Given the description of an element on the screen output the (x, y) to click on. 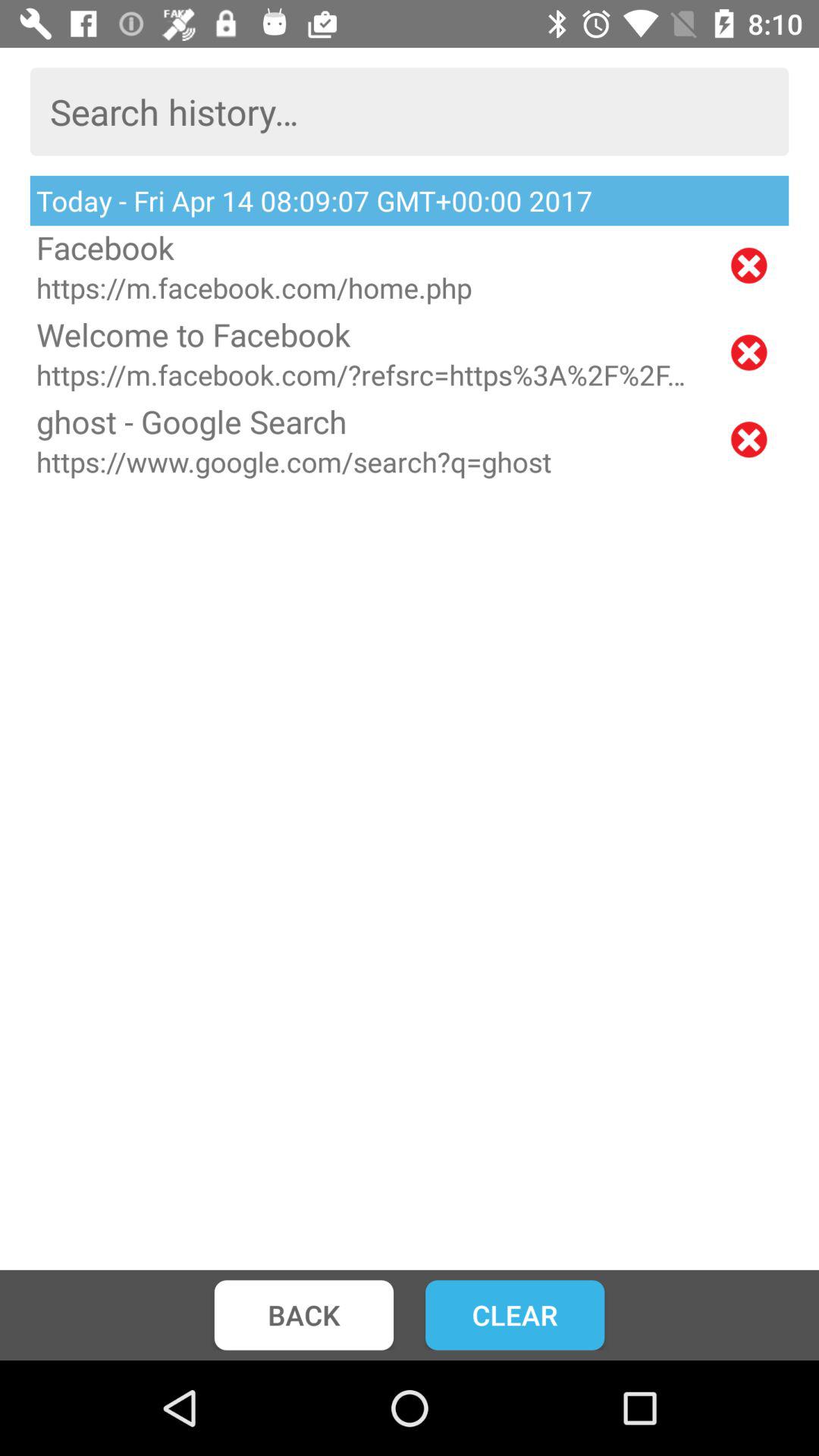
choose back icon (303, 1315)
